Given the description of an element on the screen output the (x, y) to click on. 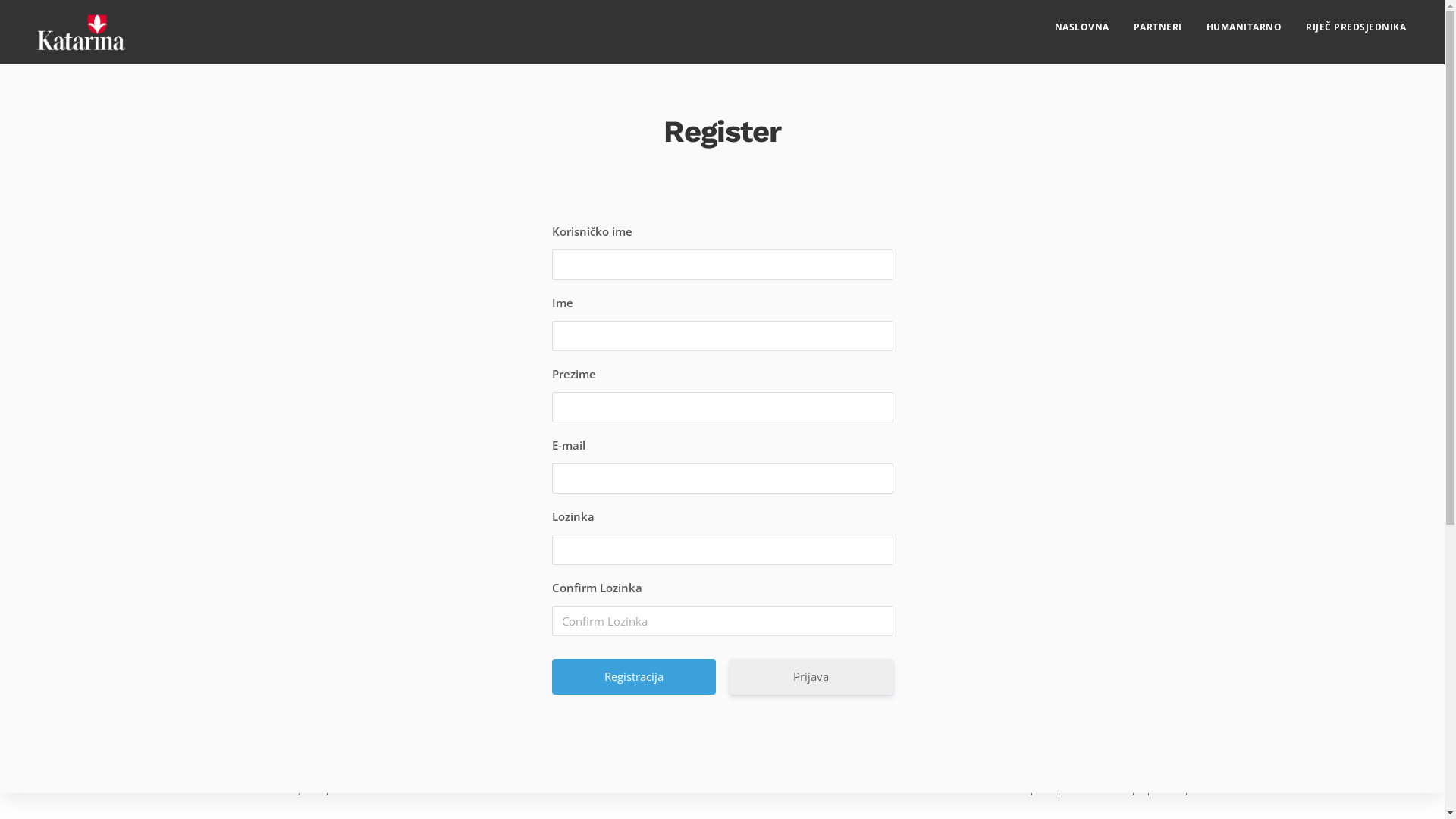
PARTNERI Element type: text (1156, 26)
HUMANITARNO Element type: text (1243, 26)
Izjava o privatnosti Element type: text (1062, 789)
Uvjeti poslovanja Element type: text (1156, 789)
NASLOVNA Element type: text (274, 583)
HUMANITARNO Element type: text (283, 609)
PARTNERI Element type: text (428, 583)
NASLOVNA Element type: text (1080, 26)
Registracija Element type: text (633, 676)
Prijava Element type: text (811, 676)
